Given the description of an element on the screen output the (x, y) to click on. 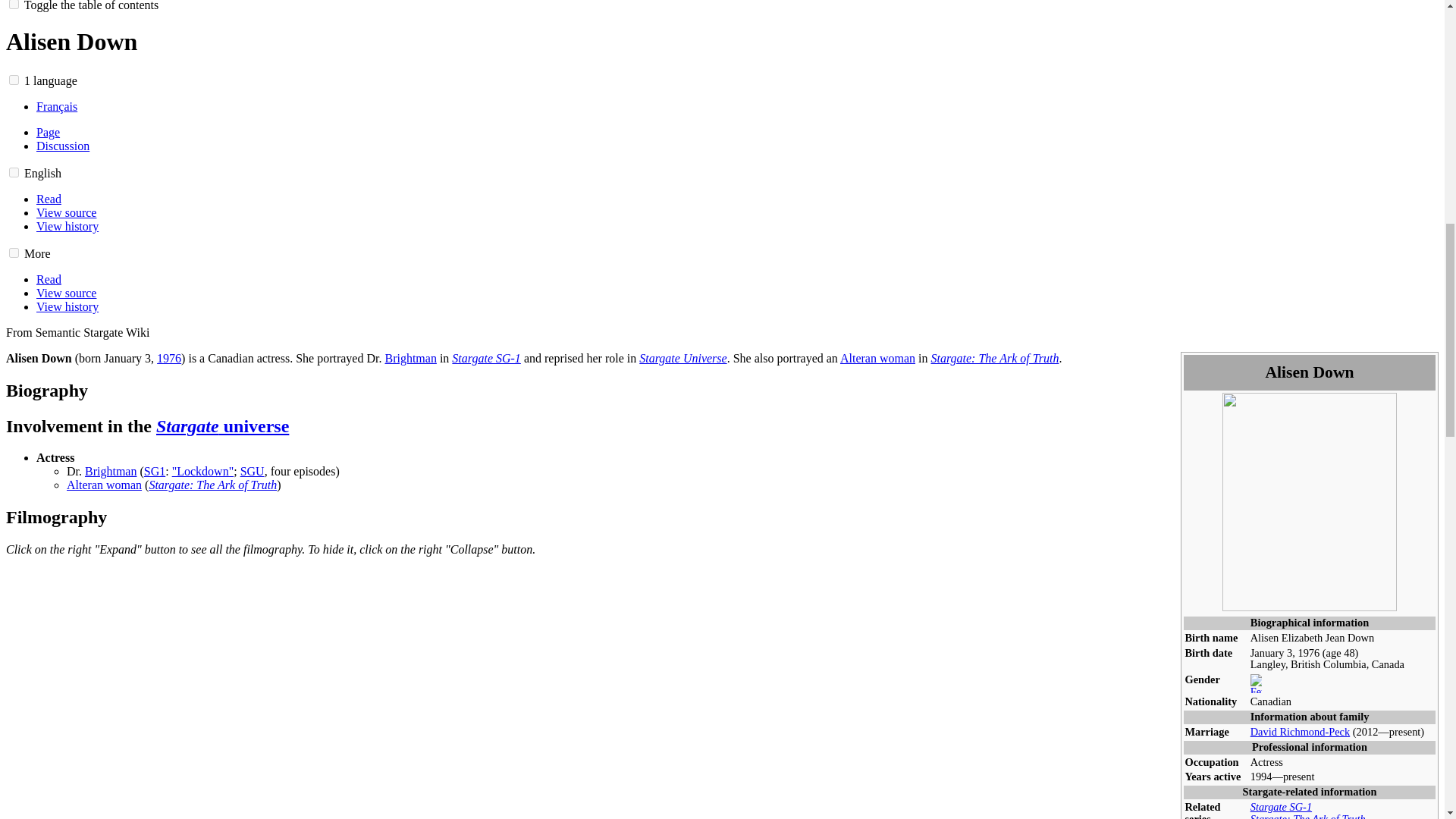
on (13, 172)
on (13, 252)
on (13, 4)
on (13, 80)
Page (47, 132)
